Given the description of an element on the screen output the (x, y) to click on. 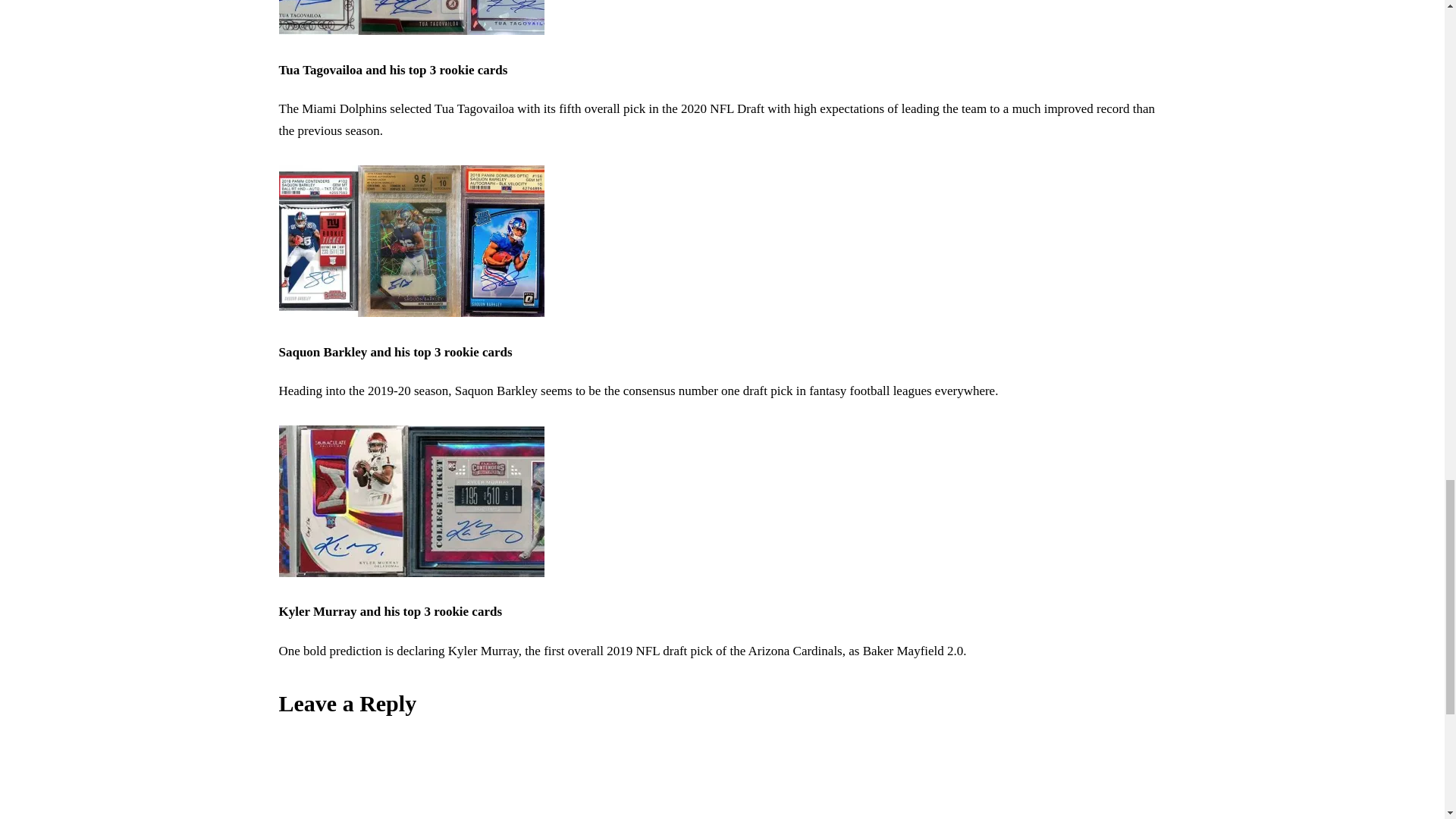
Saquon Barkley and his top 3 rookie cards (395, 351)
Tua Tagovailoa and his top 3 rookie cards (393, 69)
Kyler Murray and his top 3 rookie cards (411, 572)
Saquon Barkley and his top 3 rookie cards (411, 312)
Kyler Murray and his top 3 rookie cards (390, 611)
Comment Form (722, 782)
Tua Tagovailoa and his top 3 rookie cards (411, 30)
Saquon Barkley and his top 3 rookie cards (395, 351)
Tua Tagovailoa and his top 3 rookie cards (393, 69)
